Given the description of an element on the screen output the (x, y) to click on. 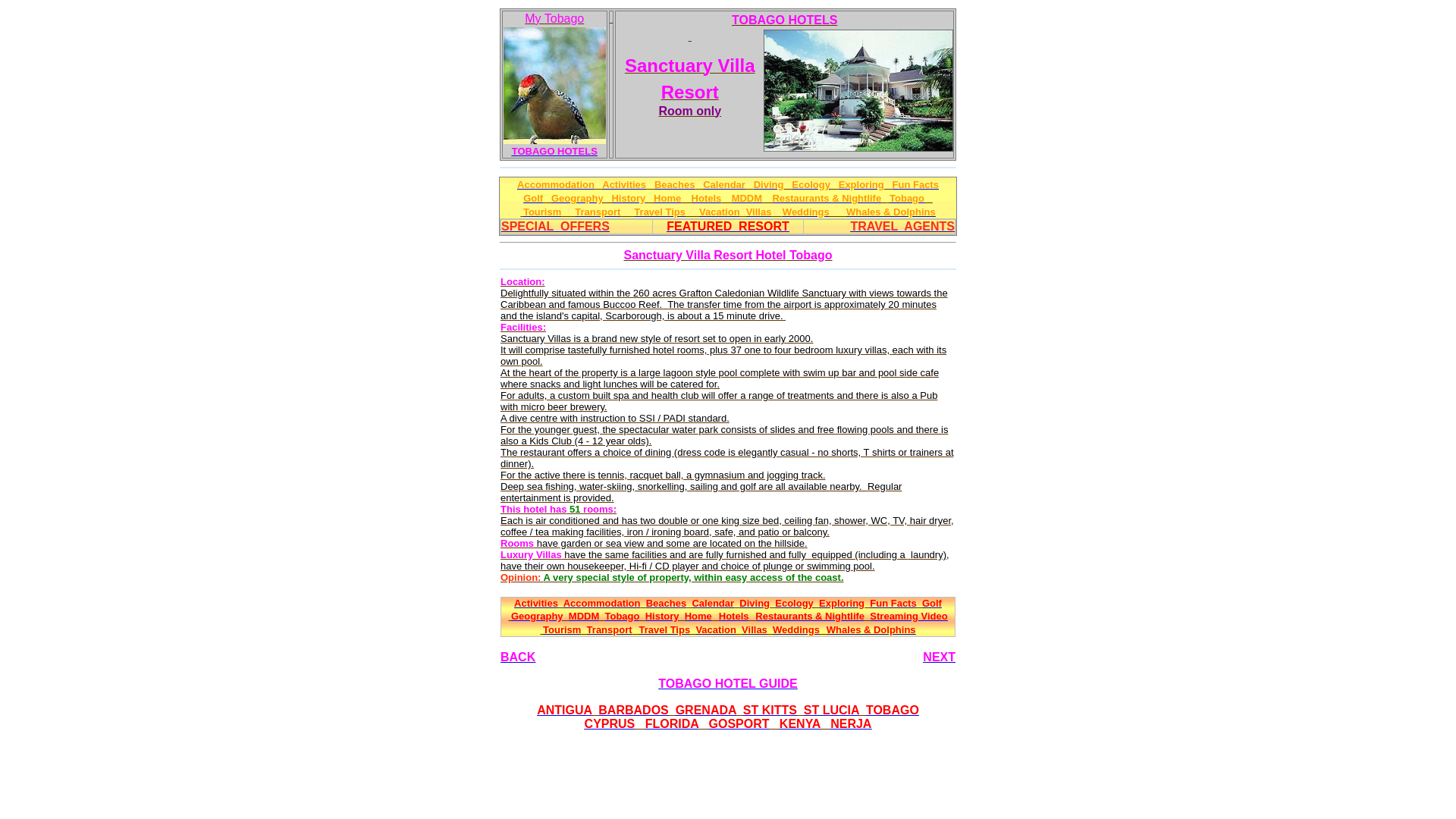
Home (667, 197)
Hotels (706, 197)
Exploring (841, 602)
Diving (769, 184)
Guide to Tobago Hotels (706, 197)
Ecology (810, 184)
Fun Facts (915, 183)
Beaches (665, 602)
My Tobago Hotel Accommodation Guide (554, 151)
Vacation (718, 211)
